Given the description of an element on the screen output the (x, y) to click on. 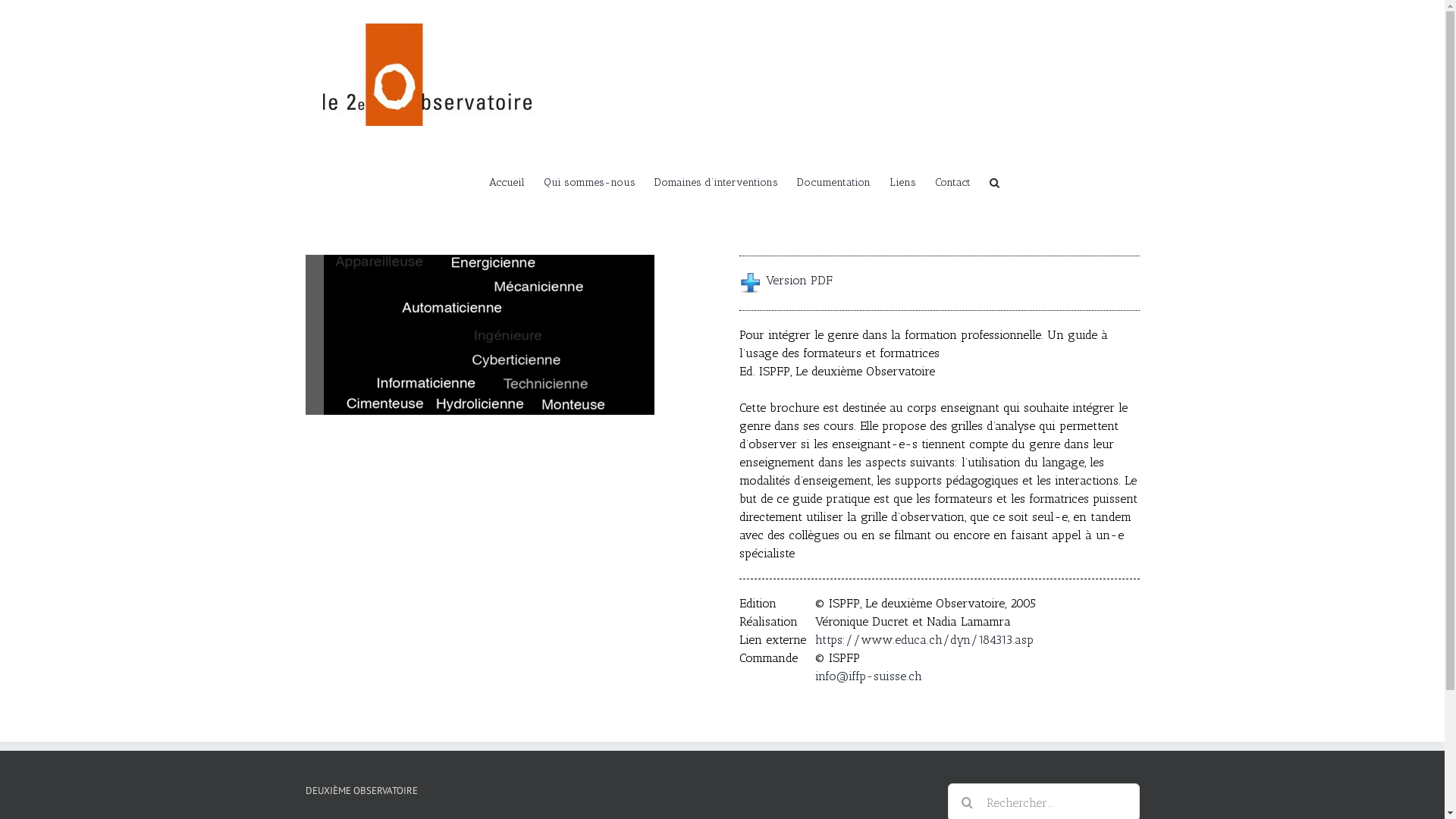
Liens Element type: text (901, 181)
Contact Element type: text (951, 181)
Recherche Element type: hover (993, 181)
info@iffp-suisse.ch Element type: text (868, 675)
Documentation Element type: text (832, 181)
Version PDF Element type: text (796, 280)
https://www.educa.ch/dyn/184313.asp Element type: text (924, 639)
Accueil Element type: text (506, 181)
Qui sommes-nous Element type: text (588, 181)
